Given the description of an element on the screen output the (x, y) to click on. 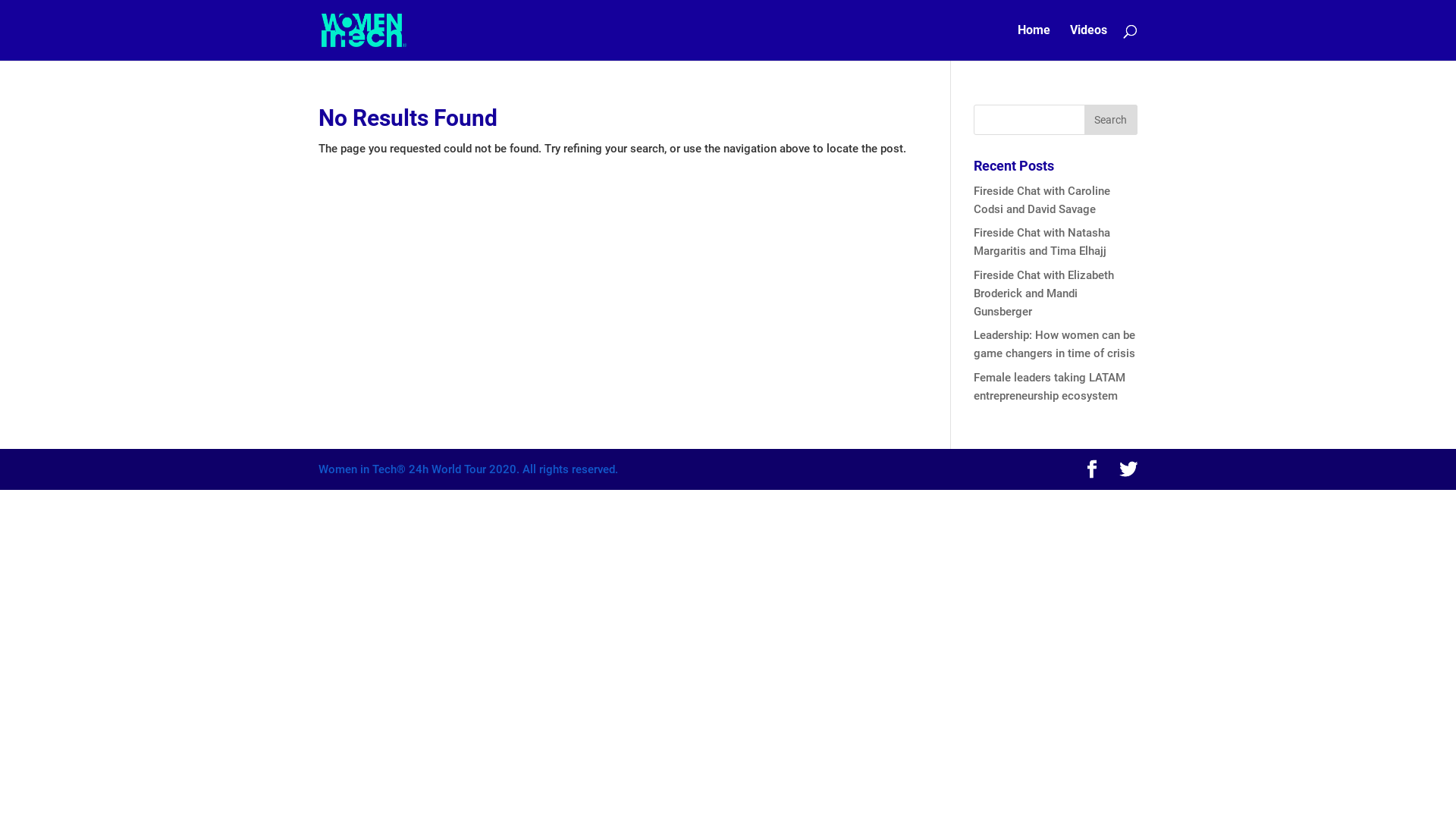
Fireside Chat with Elizabeth Broderick and Mandi Gunsberger Element type: text (1043, 293)
Search Element type: text (1110, 119)
Videos Element type: text (1088, 42)
Fireside Chat with Natasha Margaritis and Tima Elhajj Element type: text (1041, 241)
Leadership: How women can be game changers in time of crisis Element type: text (1054, 344)
Fireside Chat with Caroline Codsi and David Savage Element type: text (1041, 200)
Female leaders taking LATAM entrepreneurship ecosystem Element type: text (1049, 386)
Home Element type: text (1033, 42)
